Given the description of an element on the screen output the (x, y) to click on. 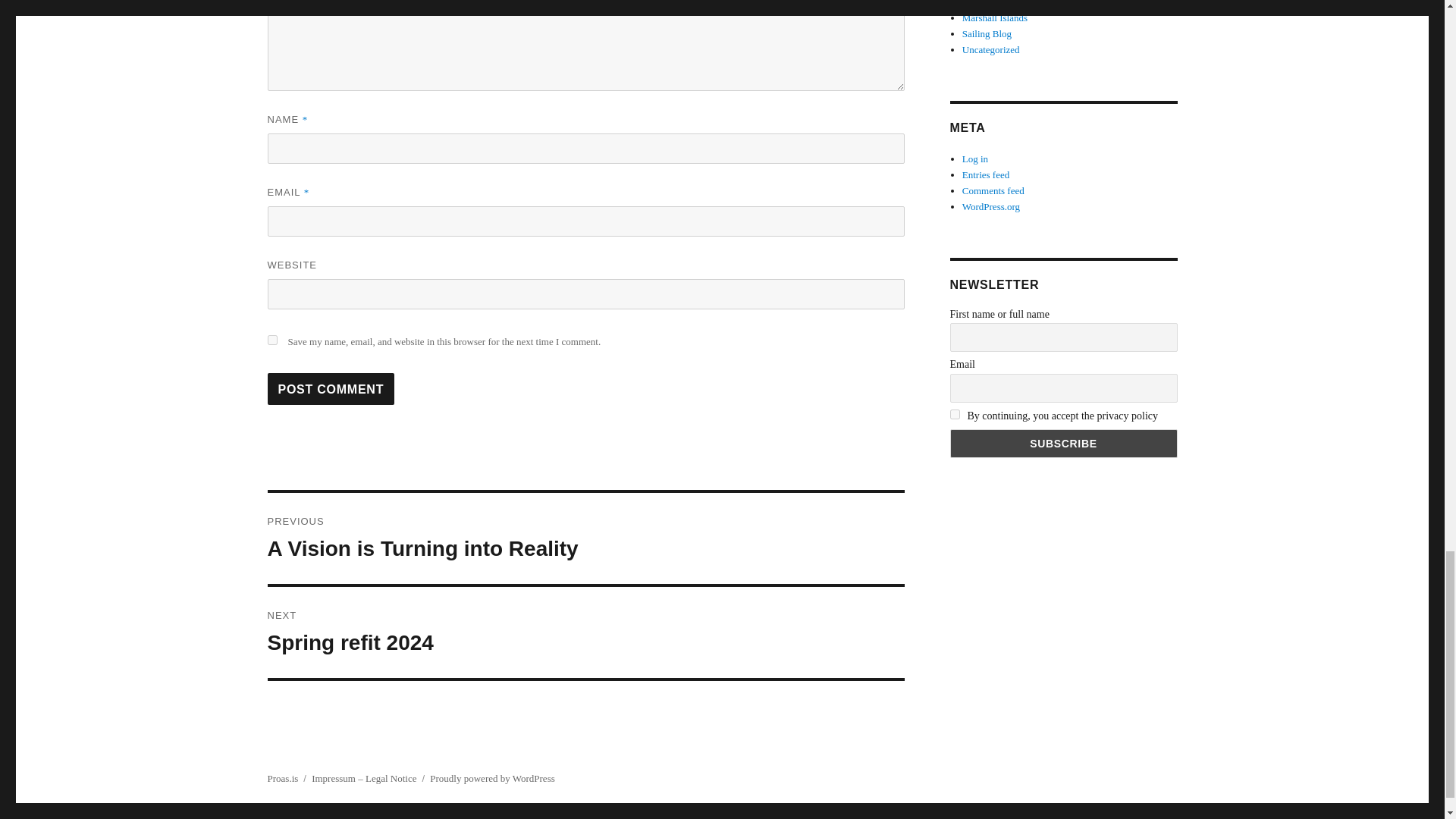
Post Comment (585, 632)
yes (330, 388)
on (271, 339)
Post Comment (585, 538)
Subscribe (954, 414)
